Given the description of an element on the screen output the (x, y) to click on. 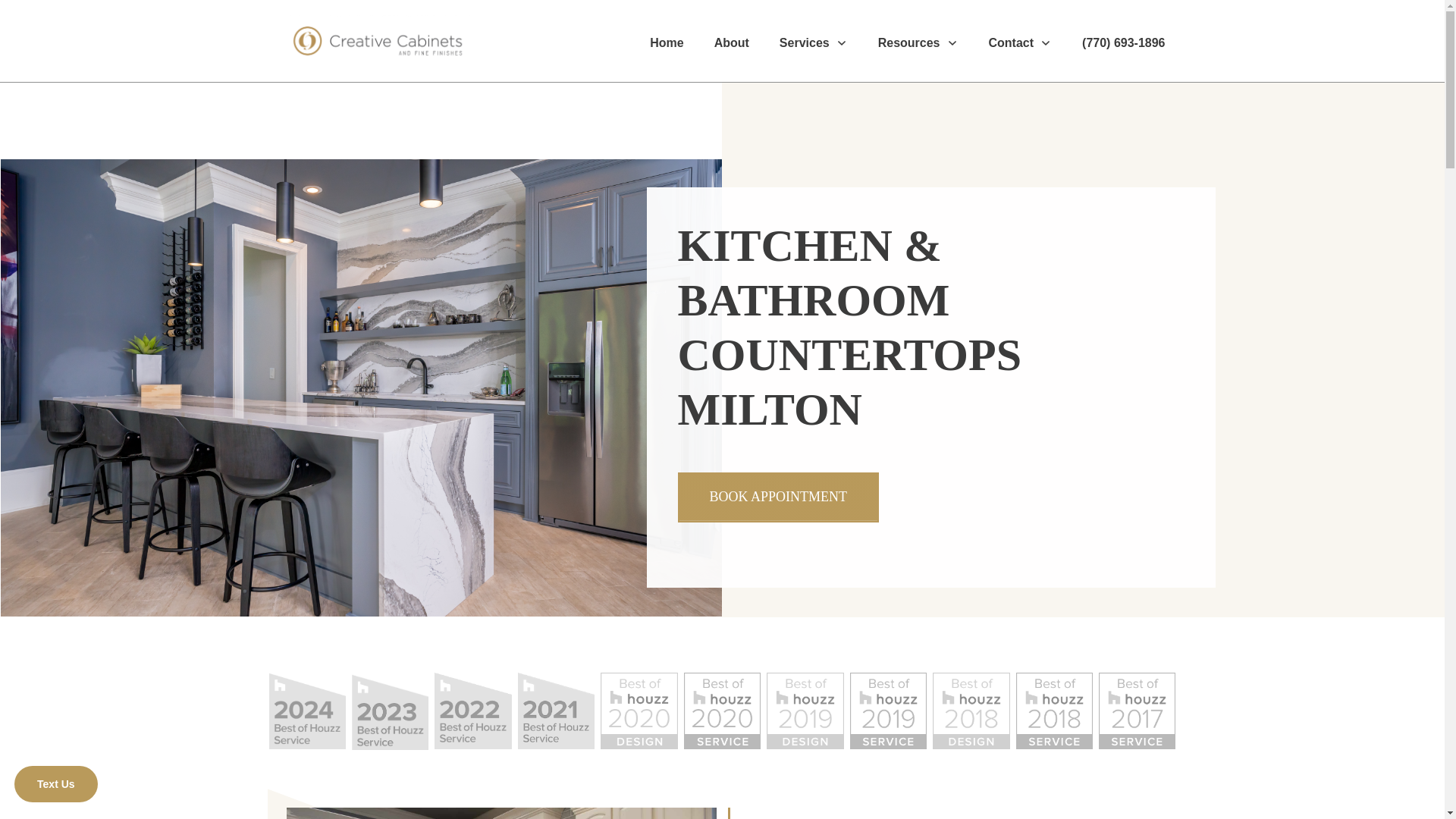
image-1 (722, 709)
BOOK APPOINTMENT (778, 497)
Services (812, 43)
2021-Best-of-Houzz (556, 709)
houzz 2023 (390, 710)
best-of-houzz-2017 (1136, 709)
Resources (917, 43)
Home (665, 43)
best-of-houzz-service-2018 (1054, 709)
About (731, 43)
image-2 (638, 709)
Contact (1020, 43)
best-of-houzz-2018 (971, 709)
